Given the description of an element on the screen output the (x, y) to click on. 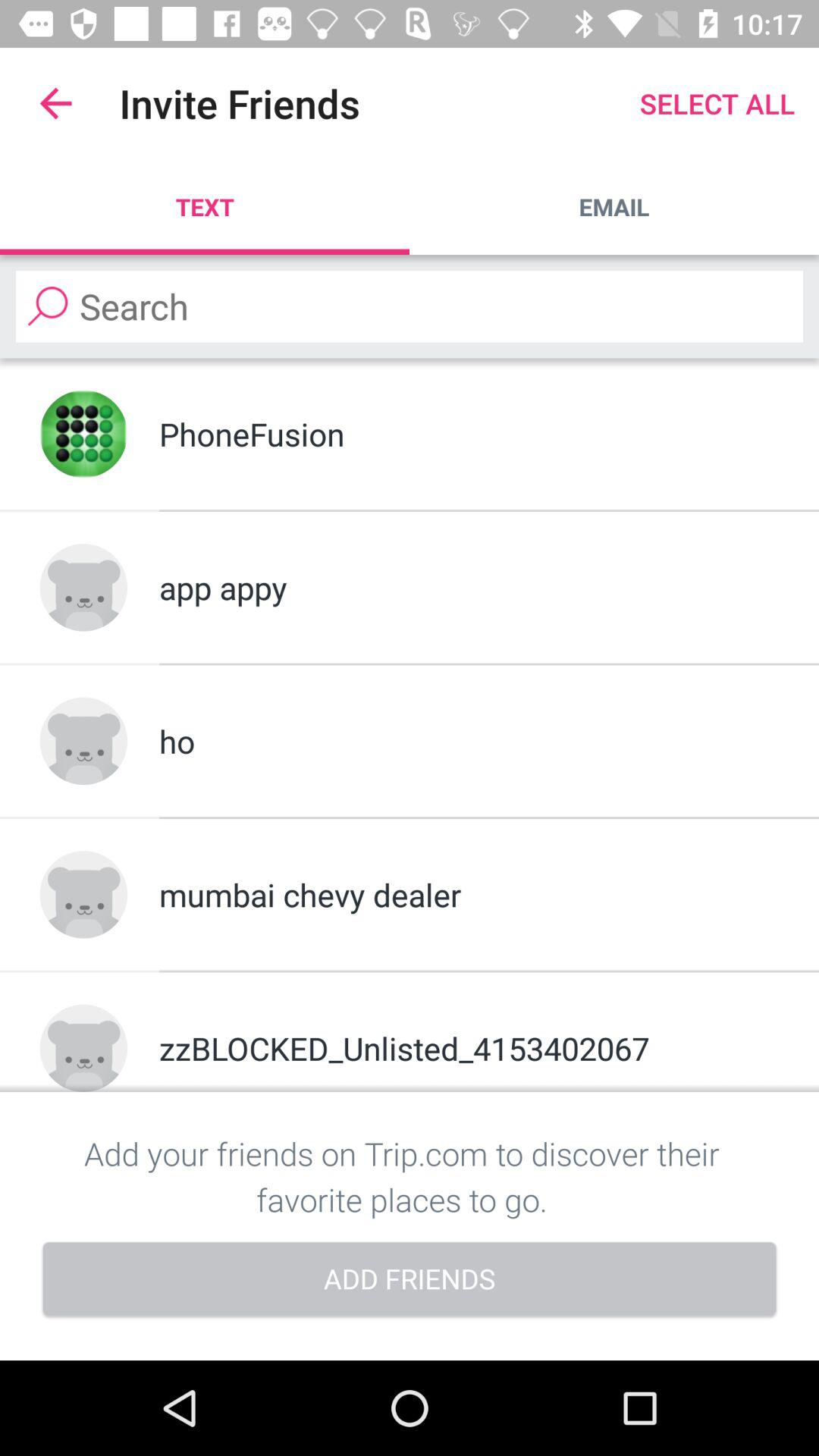
click mumbai chevy dealer icon (469, 894)
